Given the description of an element on the screen output the (x, y) to click on. 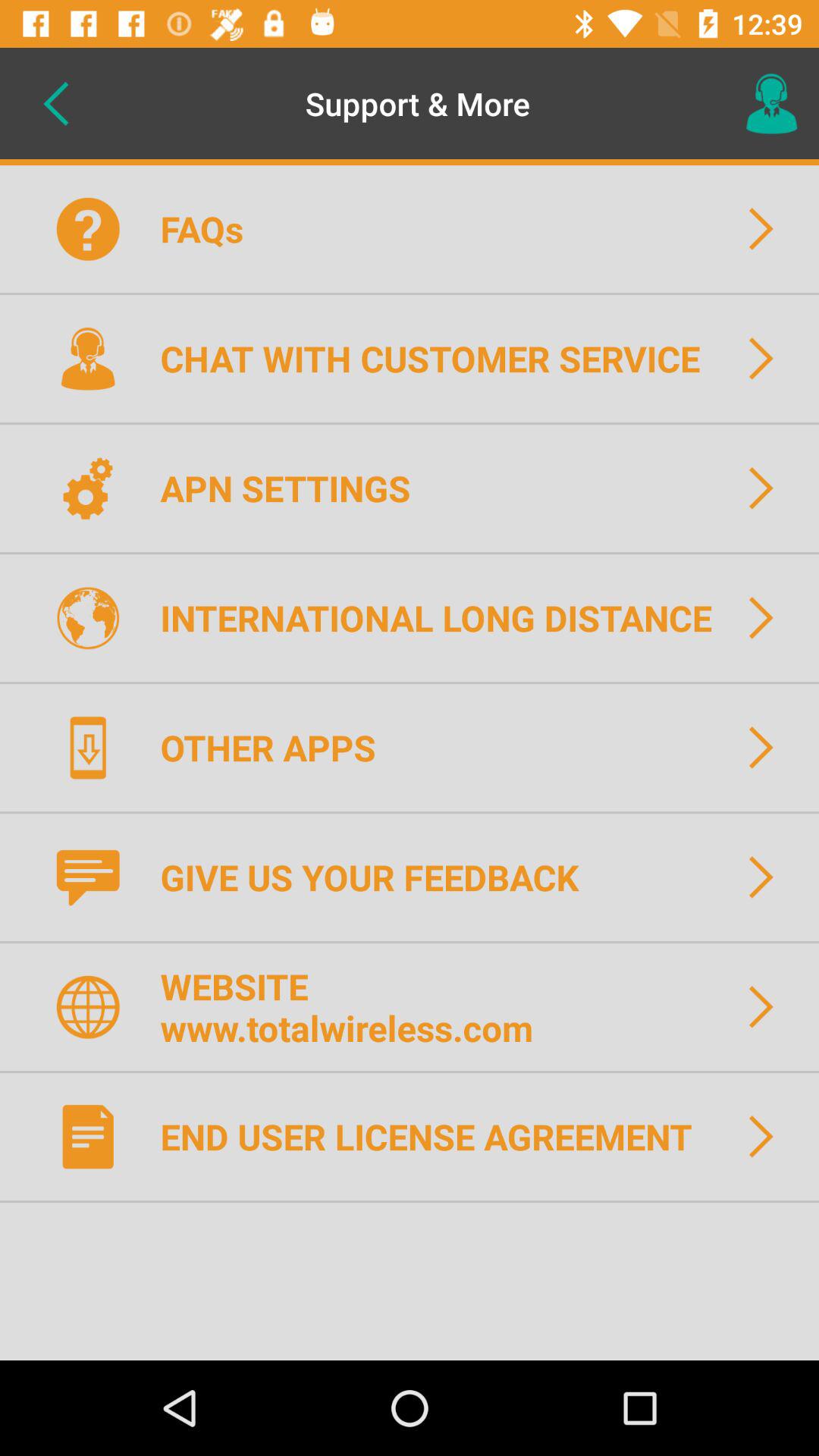
turn off give us your (379, 877)
